Given the description of an element on the screen output the (x, y) to click on. 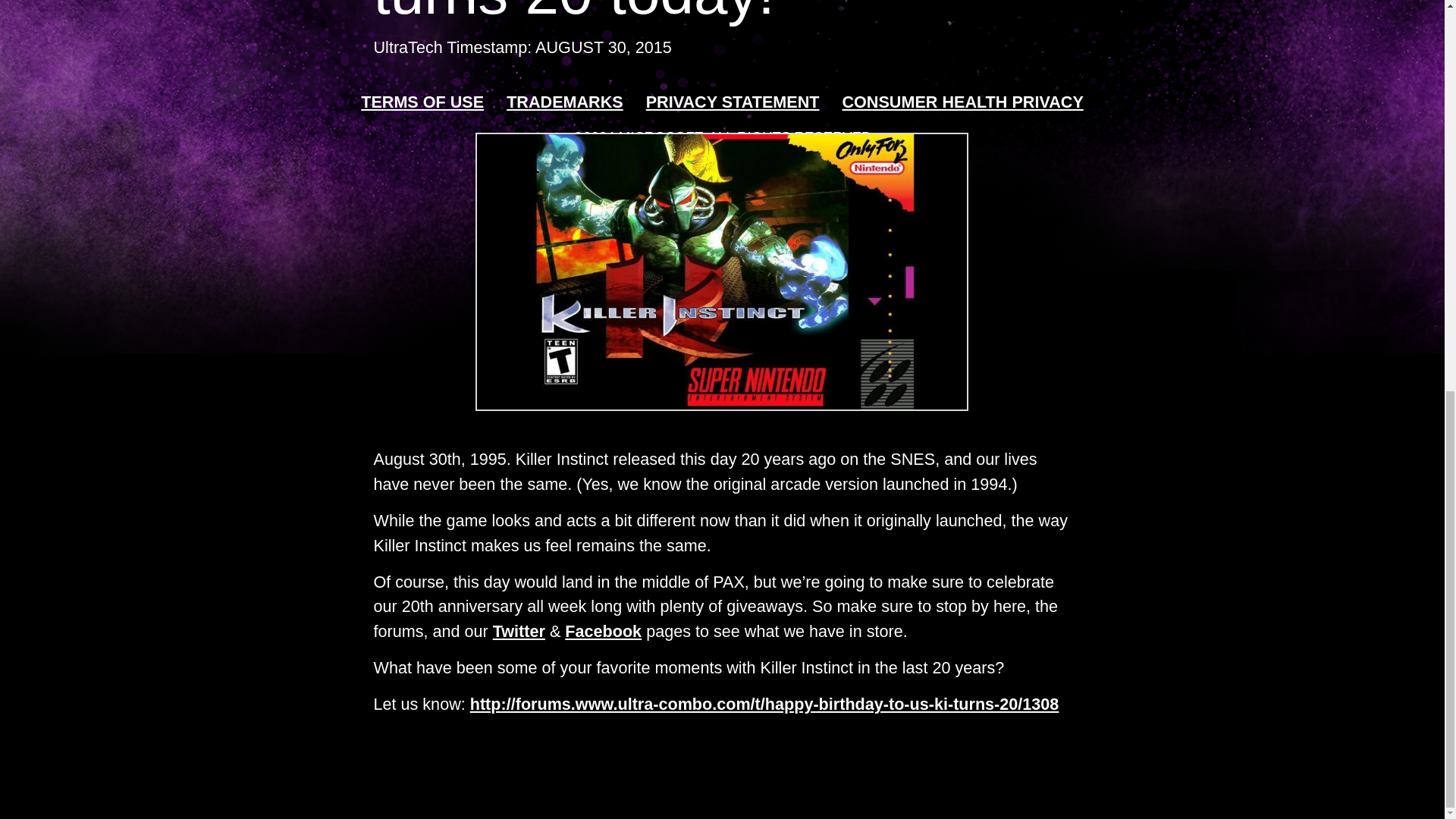
CONSUMER HEALTH PRIVACY (961, 102)
TRADEMARKS (564, 102)
Blood, Mild Suggestive Themes, Violence (650, 222)
Facebook (603, 630)
Twitter (518, 630)
TERMS OF USE (422, 102)
PRIVACY STATEMENT (732, 102)
